Given the description of an element on the screen output the (x, y) to click on. 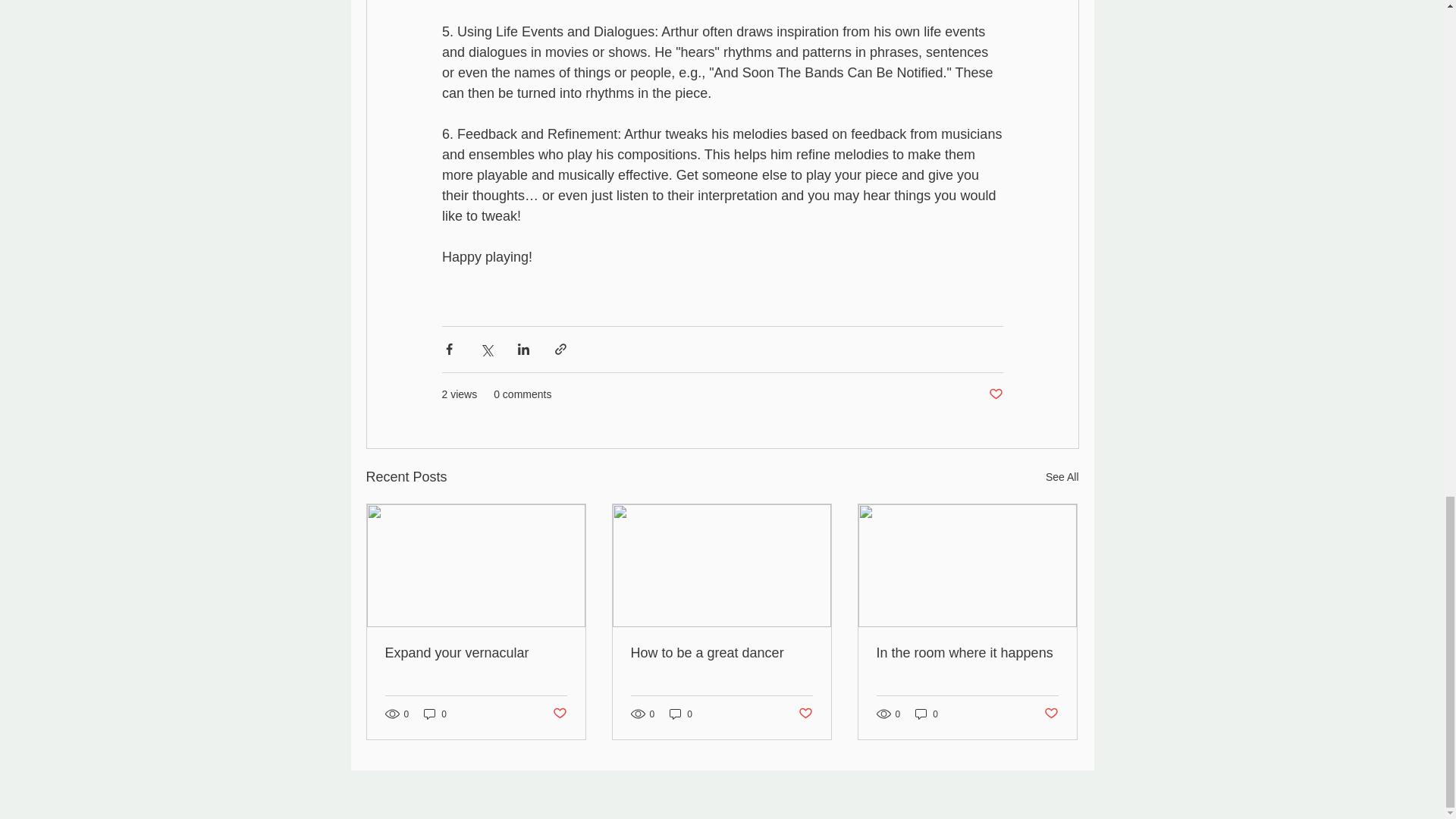
Post not marked as liked (995, 394)
0 (681, 713)
How to be a great dancer (721, 652)
Post not marked as liked (558, 713)
See All (1061, 477)
0 (926, 713)
0 (435, 713)
Post not marked as liked (804, 713)
Post not marked as liked (1050, 713)
In the room where it happens (967, 652)
